Given the description of an element on the screen output the (x, y) to click on. 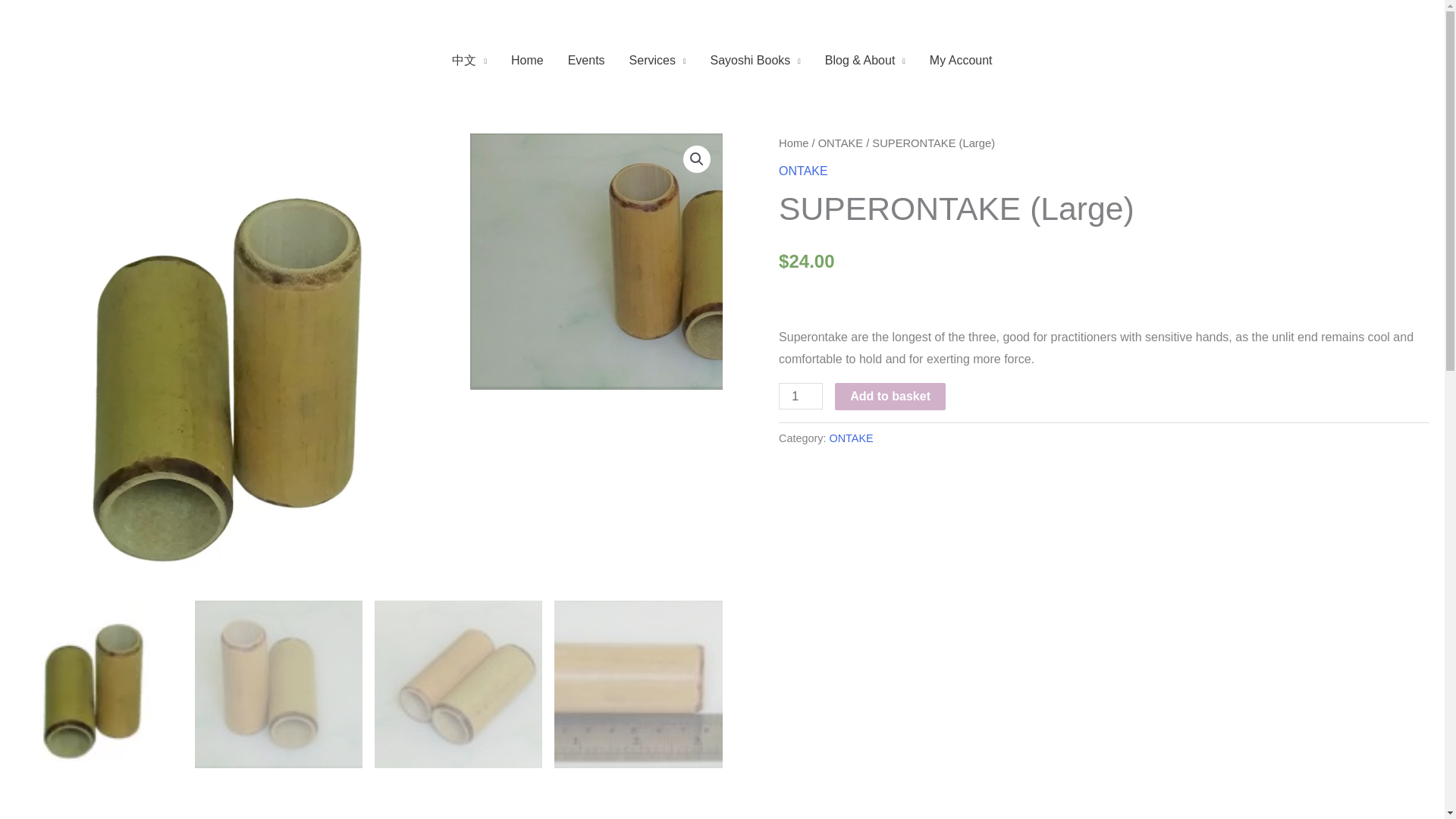
Home (527, 60)
1 (800, 396)
Sayoshi Books (754, 60)
Services (657, 60)
Events (586, 60)
DSC00544 (697, 261)
